Given the description of an element on the screen output the (x, y) to click on. 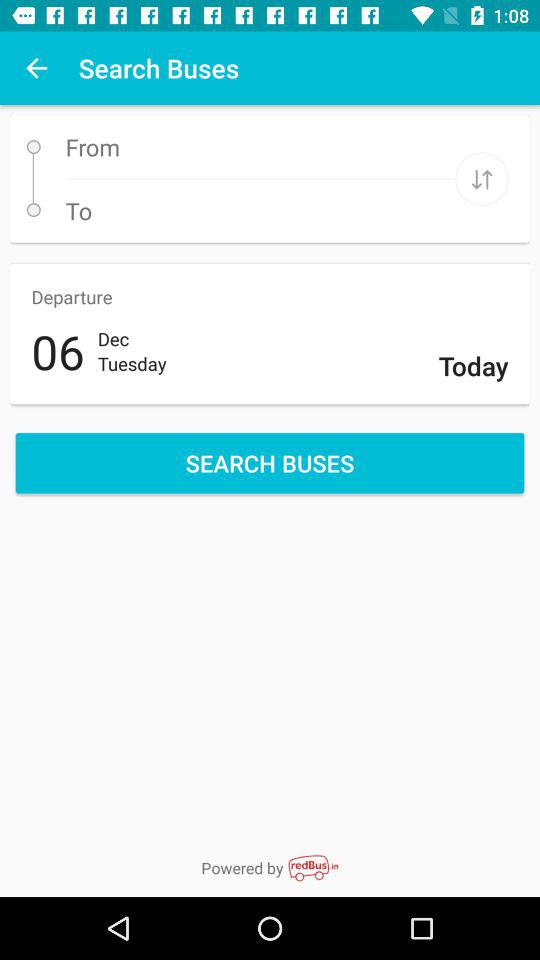
turn off item next to search buses (36, 68)
